Given the description of an element on the screen output the (x, y) to click on. 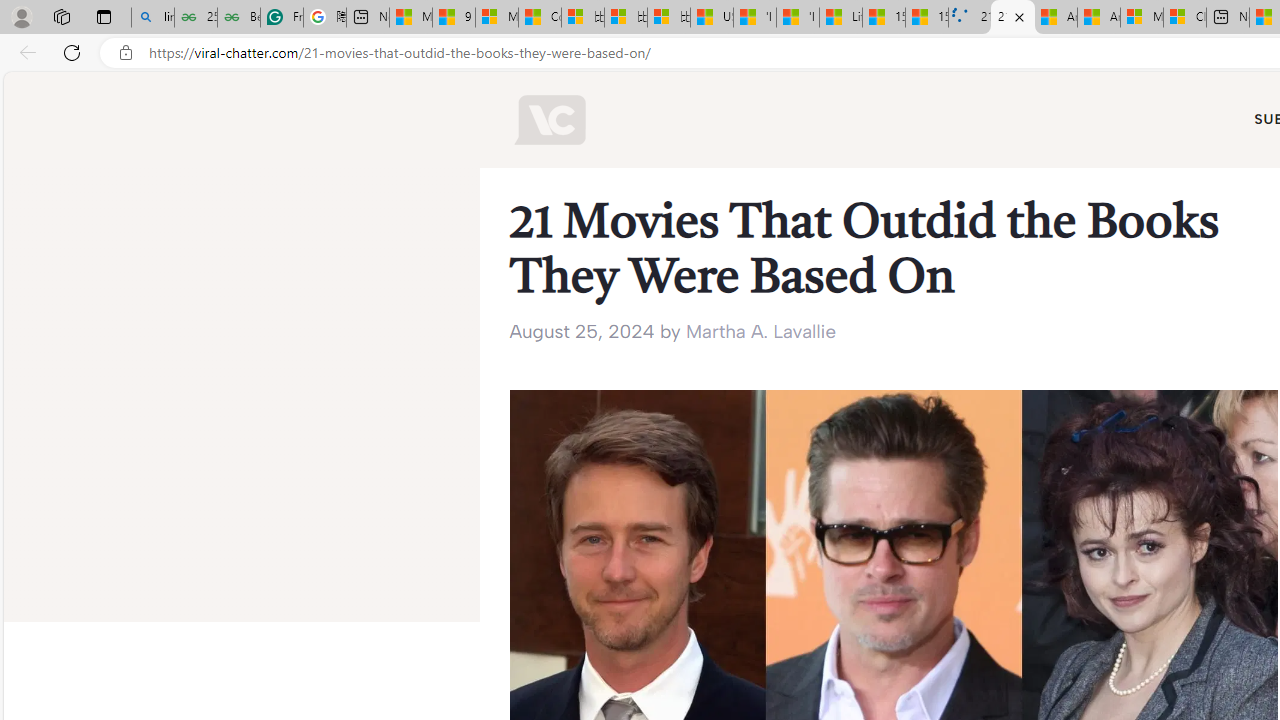
Martha A. Lavallie (759, 330)
Cloud Computing Services | Microsoft Azure (1184, 17)
Microsoft Services Agreement (1142, 17)
Lifestyle - MSN (840, 17)
USA TODAY - MSN (712, 17)
21 Movies That Outdid the Books They Were Based On (1013, 17)
